Given the description of an element on the screen output the (x, y) to click on. 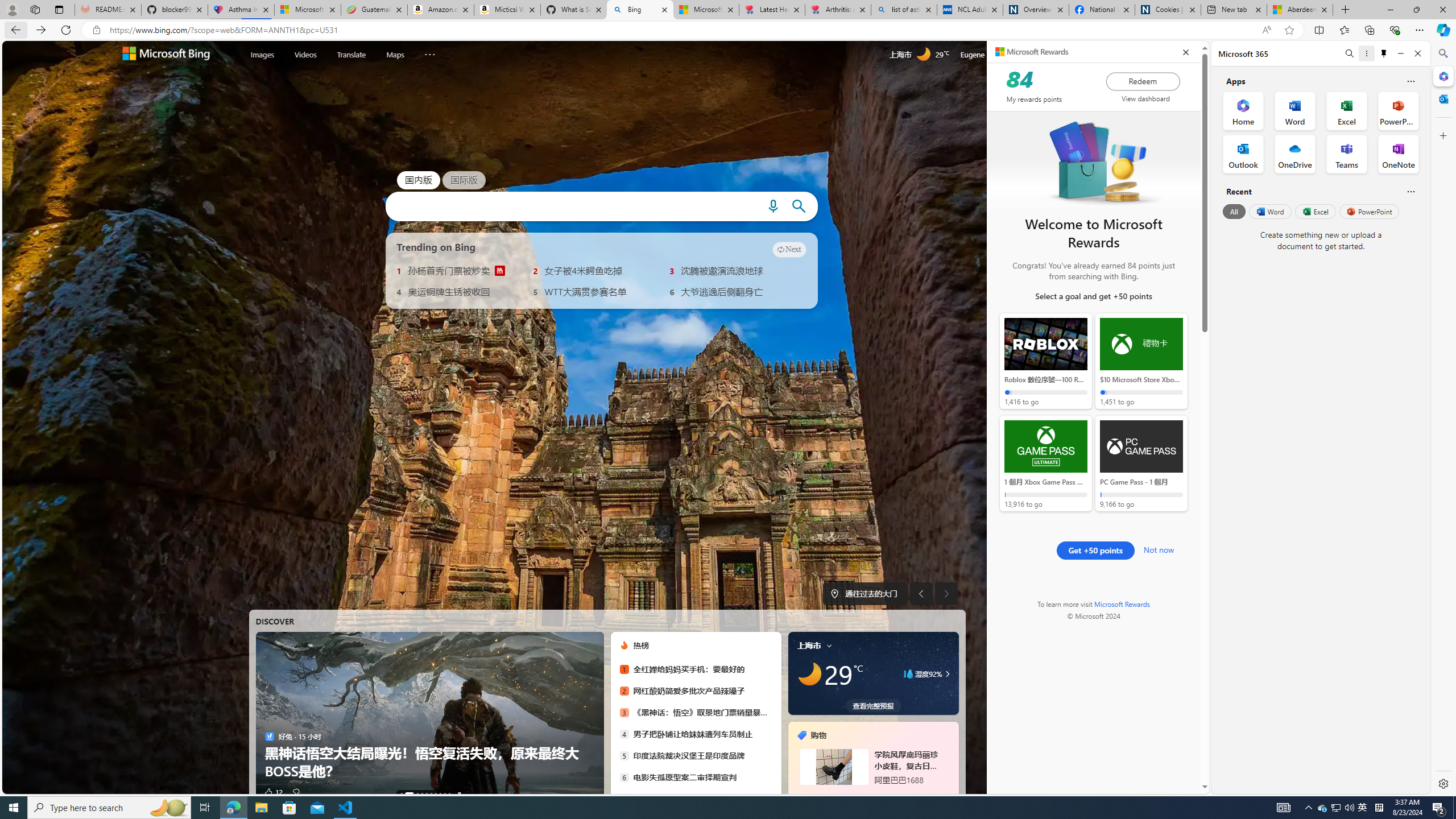
AutomationID: tab-7 (440, 793)
Images (261, 53)
Excel Office App (1346, 110)
Outlook Office App (1243, 154)
PowerPoint Office App (1398, 110)
AutomationID: tab-4 (426, 793)
